Given the description of an element on the screen output the (x, y) to click on. 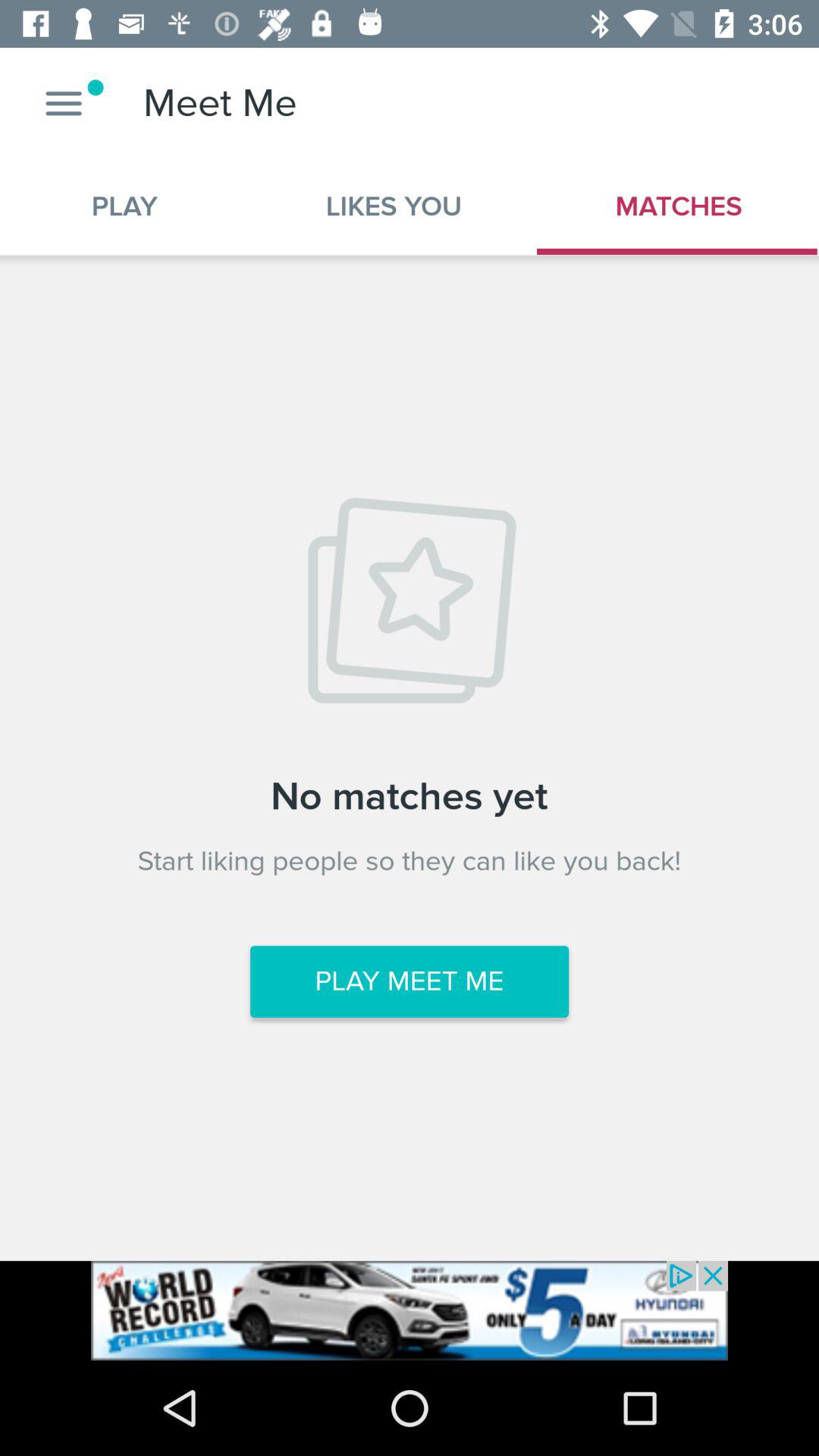
open settings (63, 103)
